Given the description of an element on the screen output the (x, y) to click on. 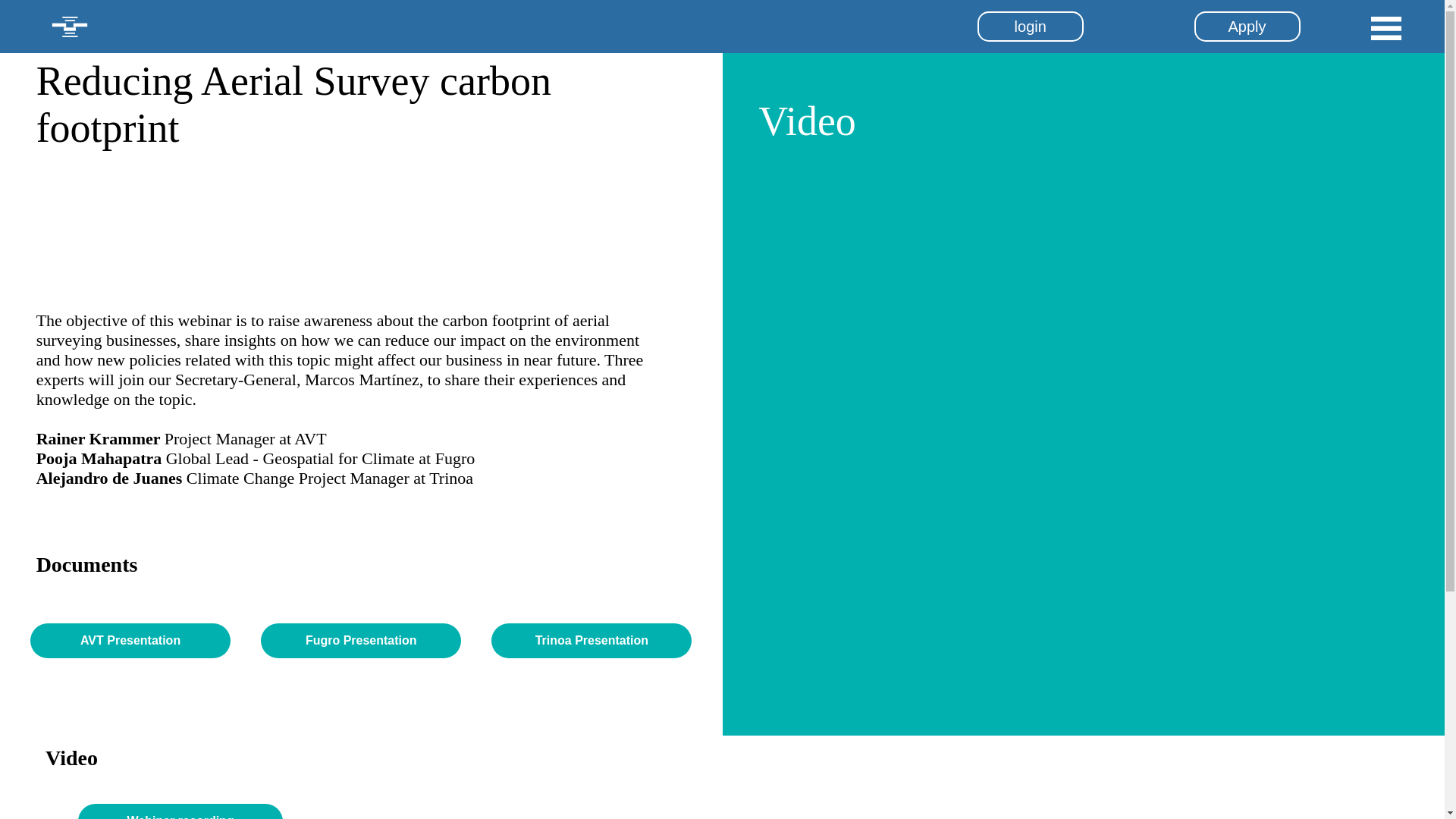
AVT Presentation (130, 640)
Apply (1246, 26)
login (1029, 26)
Webinar recording (180, 811)
Fugro Presentation (360, 640)
Trinoa Presentation (591, 640)
